Given the description of an element on the screen output the (x, y) to click on. 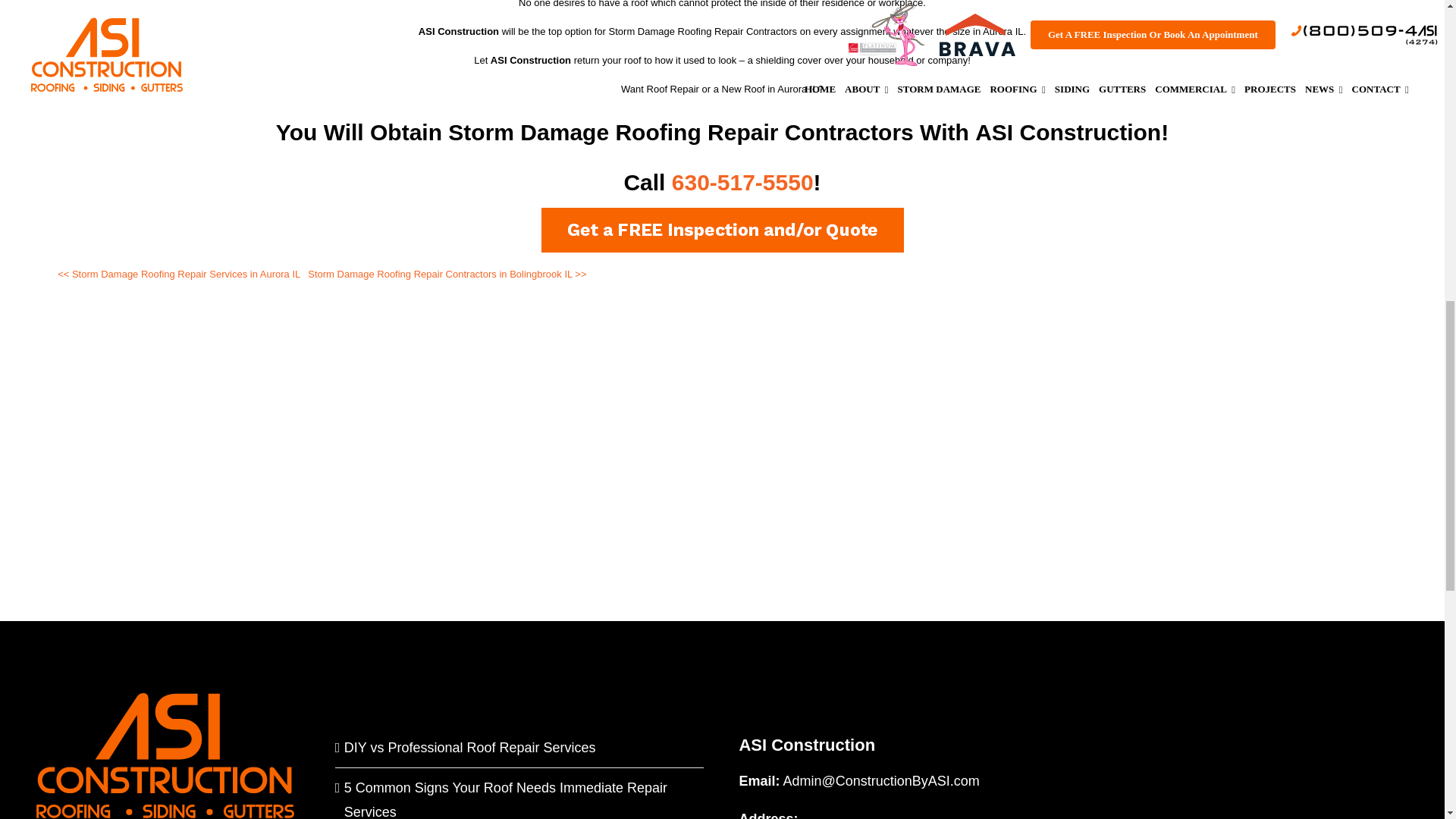
ASI logo (165, 755)
